Given the description of an element on the screen output the (x, y) to click on. 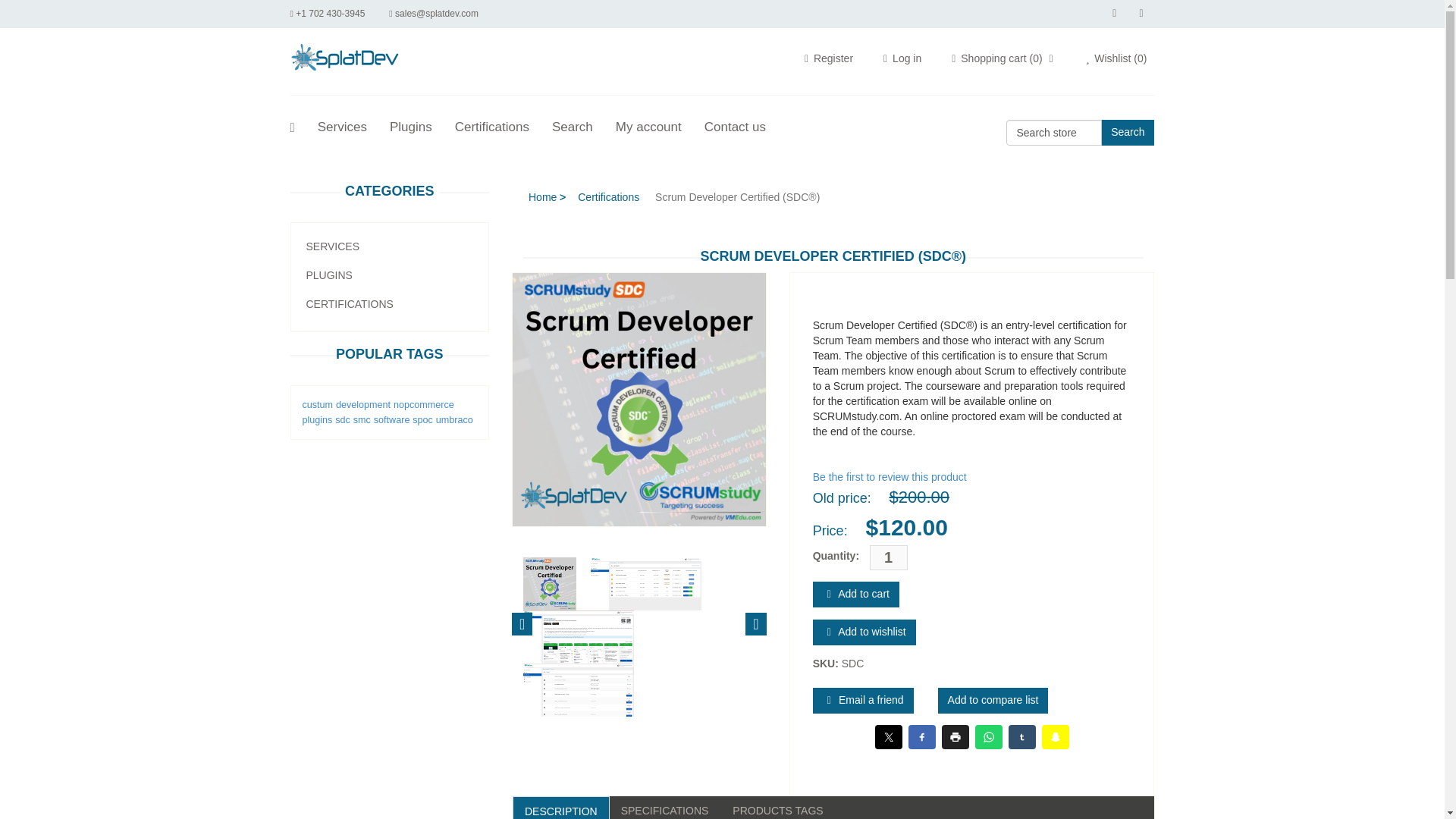
plugins (316, 419)
Plugins (411, 130)
CERTIFICATIONS (349, 304)
Services (341, 130)
Search (1127, 132)
Search (571, 130)
SERVICES (332, 246)
nopcommerce (423, 404)
smc (362, 419)
software (392, 419)
Log in (902, 58)
Home (542, 197)
development (363, 404)
My account (648, 130)
Certifications (608, 197)
